Given the description of an element on the screen output the (x, y) to click on. 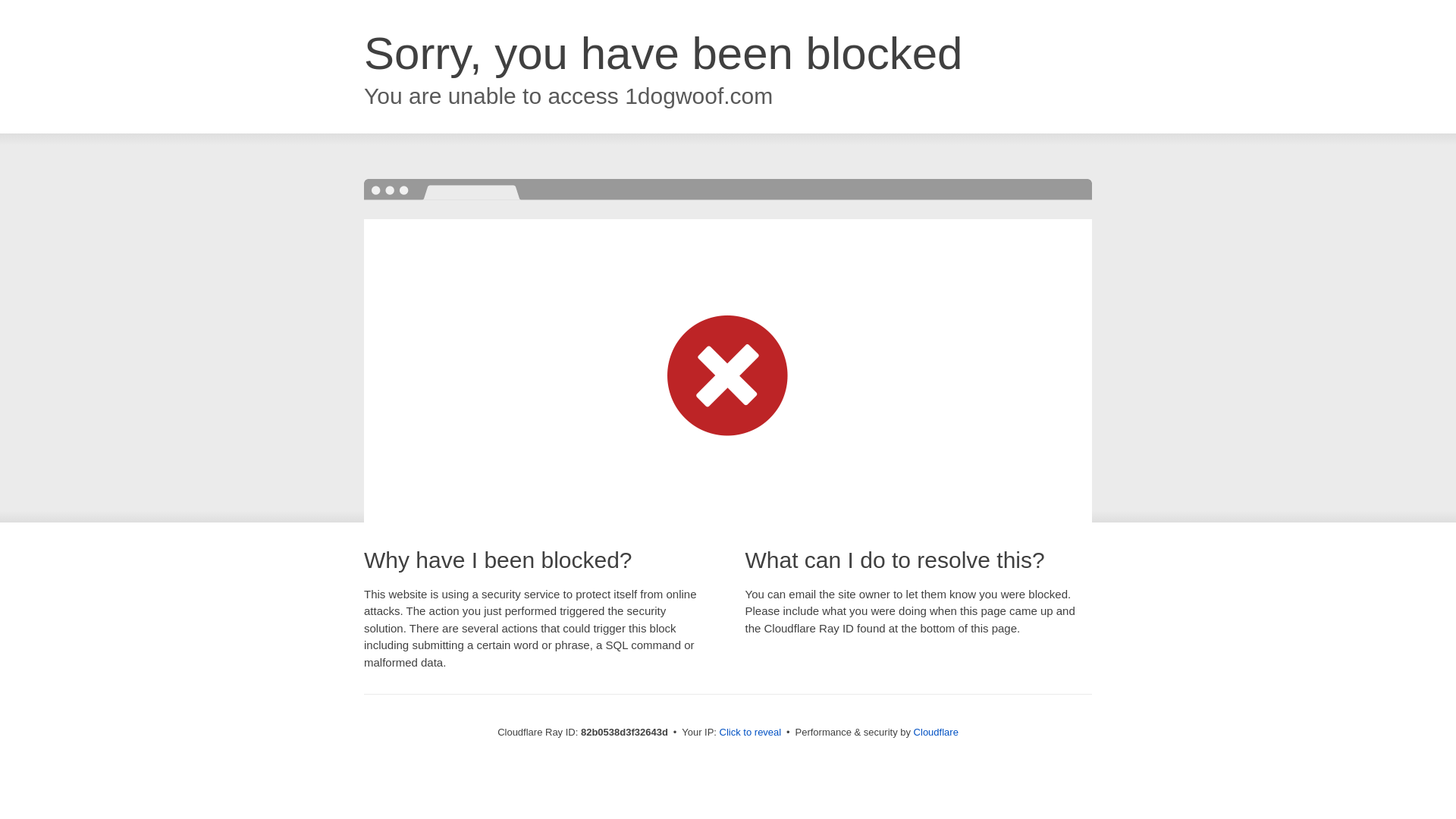
Click to reveal Element type: text (750, 732)
Cloudflare Element type: text (935, 731)
